Given the description of an element on the screen output the (x, y) to click on. 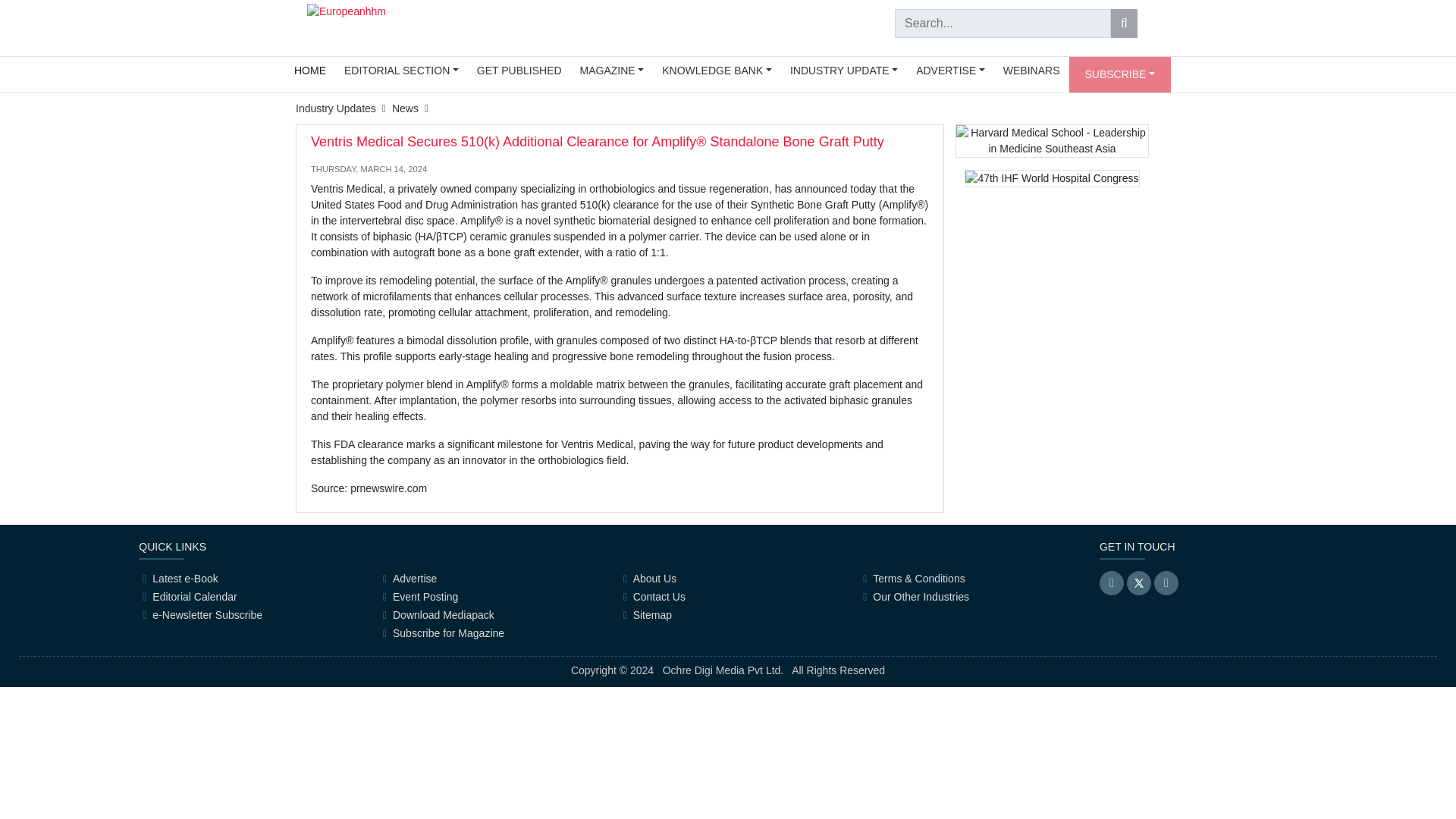
EDITORIAL SECTION (400, 70)
Europeanhhm (346, 11)
ADVERTISE (950, 70)
MAGAZINE (611, 70)
47th IHF World Hospital Congress (1050, 183)
GET PUBLISHED (518, 70)
KNOWLEDGE BANK (716, 70)
47th IHF World Hospital Congress (1050, 178)
INDUSTRY UPDATE (843, 70)
